Given the description of an element on the screen output the (x, y) to click on. 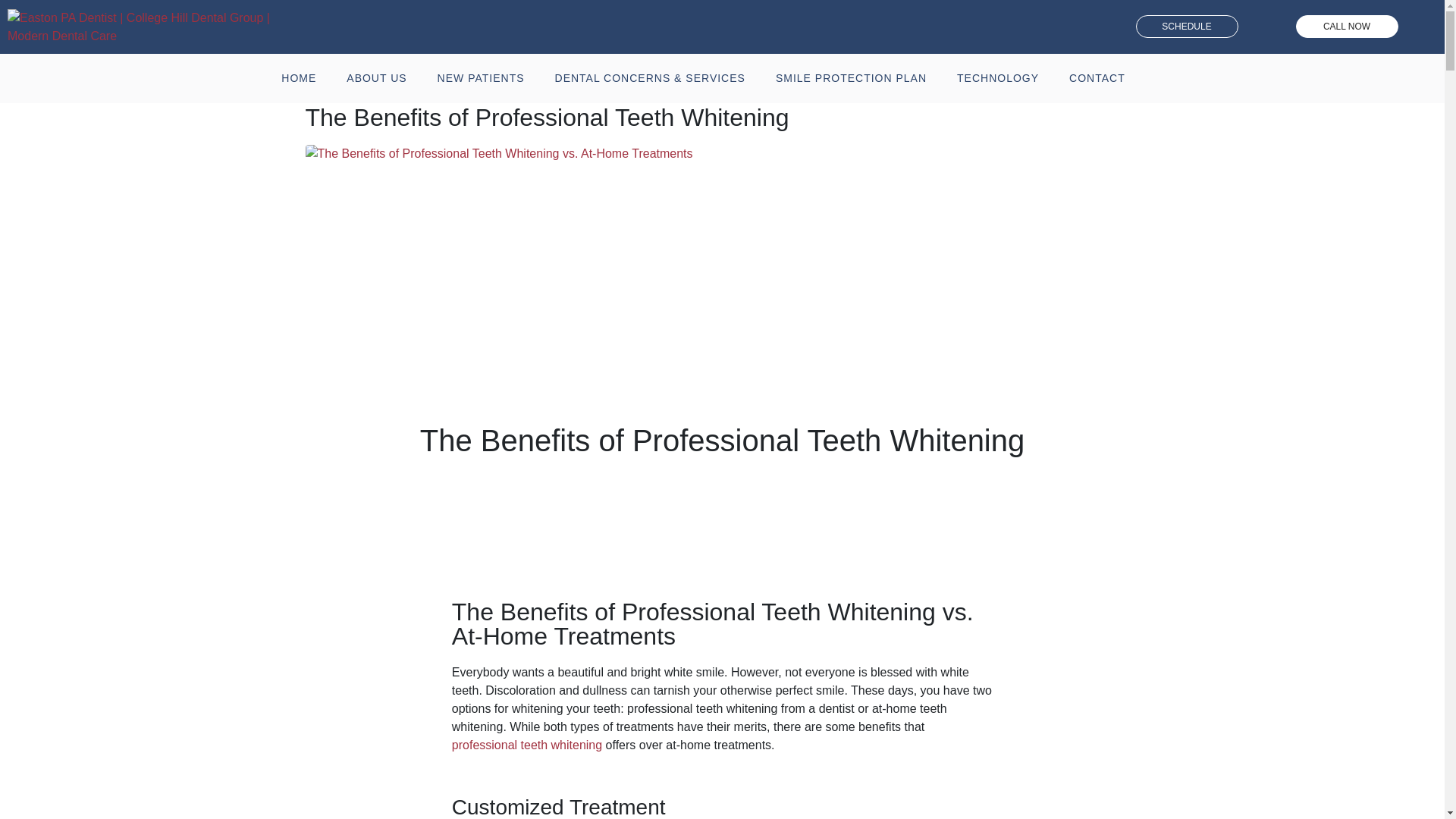
The Benefits of Professional Teeth Whitening (498, 152)
TECHNOLOGY (997, 78)
HOME (299, 78)
NEW PATIENTS (480, 78)
CONTACT (1097, 78)
SMILE PROTECTION PLAN (850, 78)
The Benefits of Professional Teeth Whitening (546, 117)
CALL NOW (1346, 26)
SCHEDULE (1187, 26)
ABOUT US (376, 78)
